Given the description of an element on the screen output the (x, y) to click on. 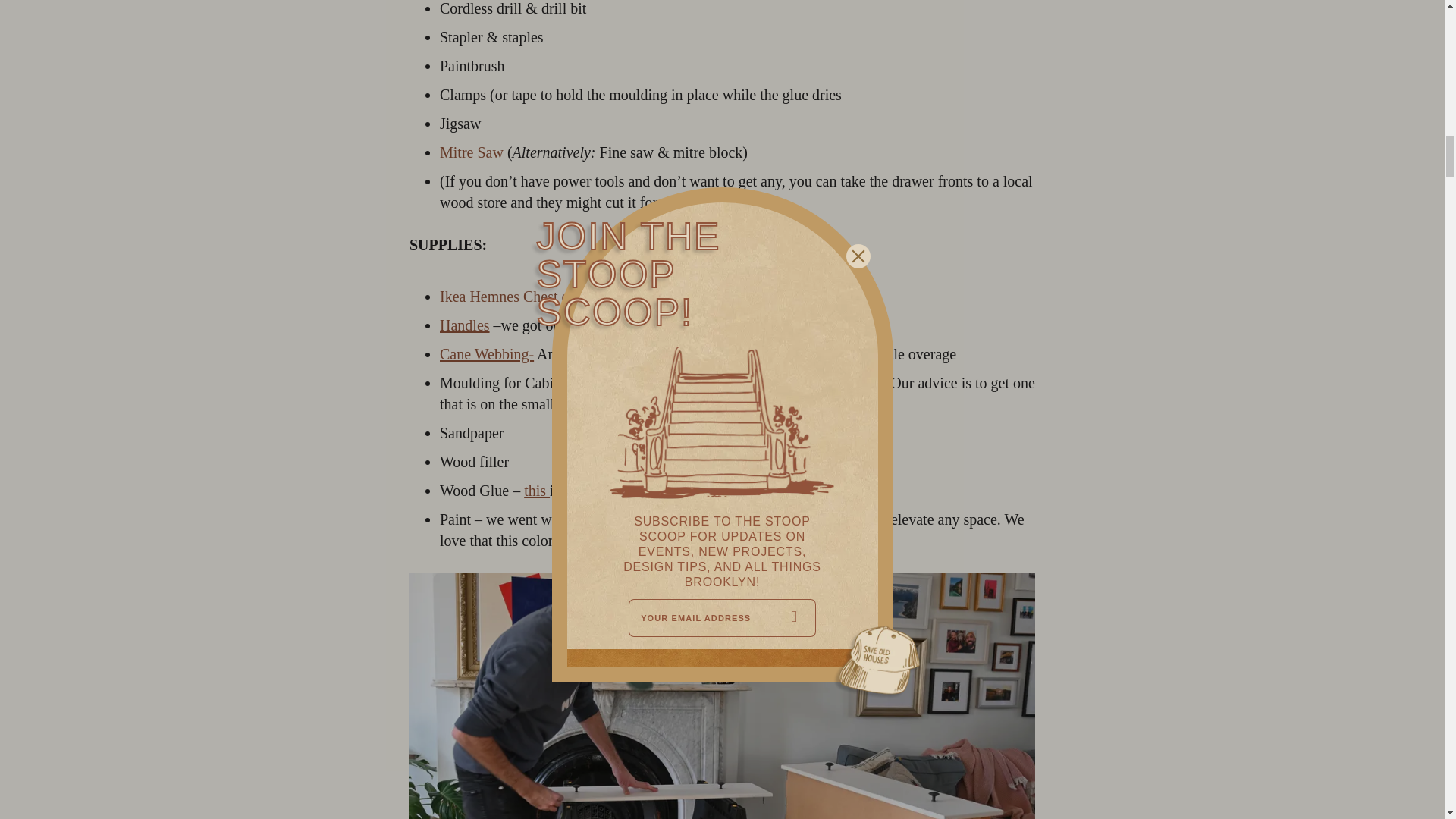
Mitre Saw (471, 152)
Handles (464, 324)
this (537, 490)
Cane Webbing- (486, 353)
Ikea Hemnes Chest of Drawers (533, 296)
Clare Paint (605, 519)
